Given the description of an element on the screen output the (x, y) to click on. 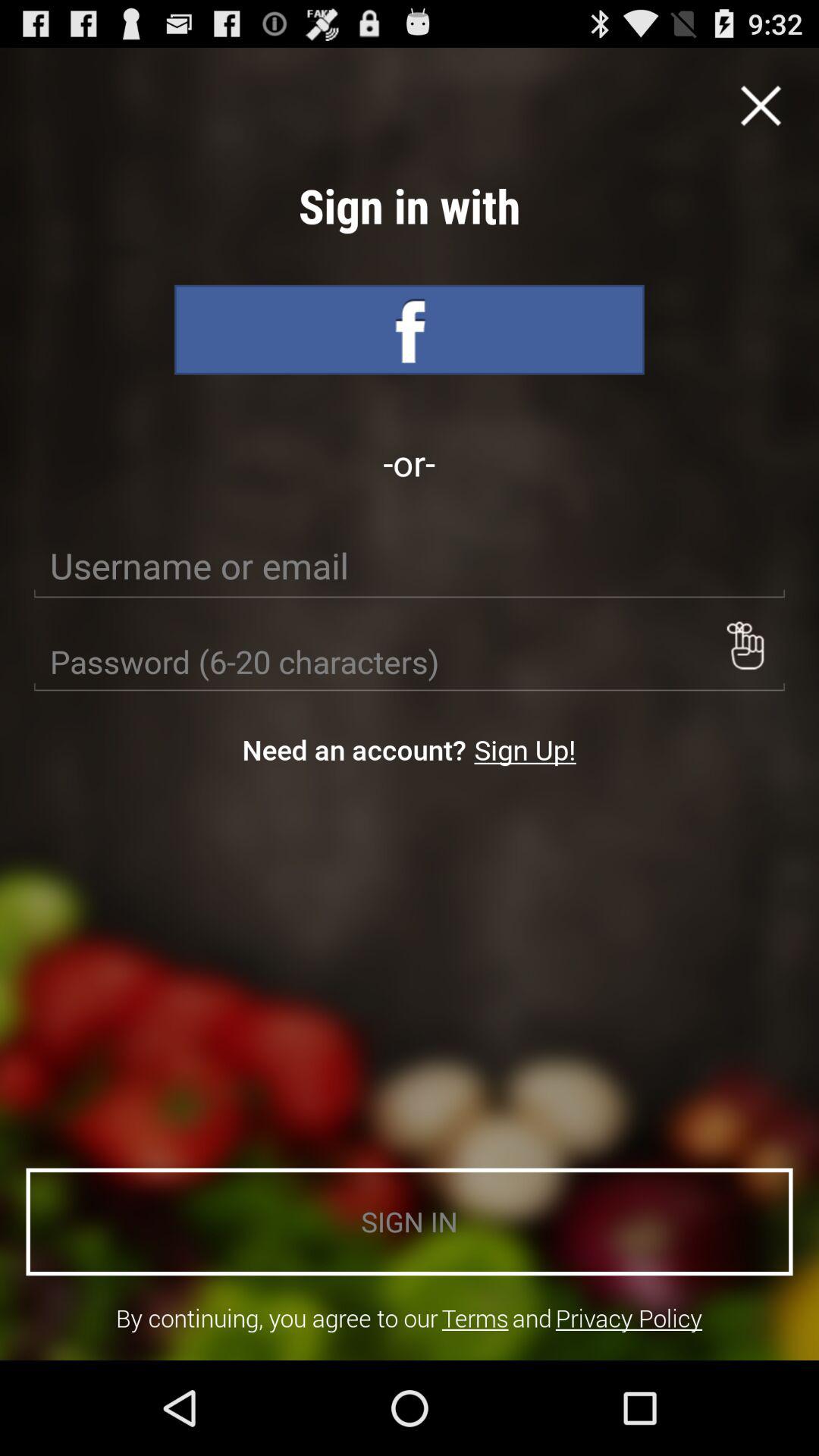
enter password (409, 661)
